Given the description of an element on the screen output the (x, y) to click on. 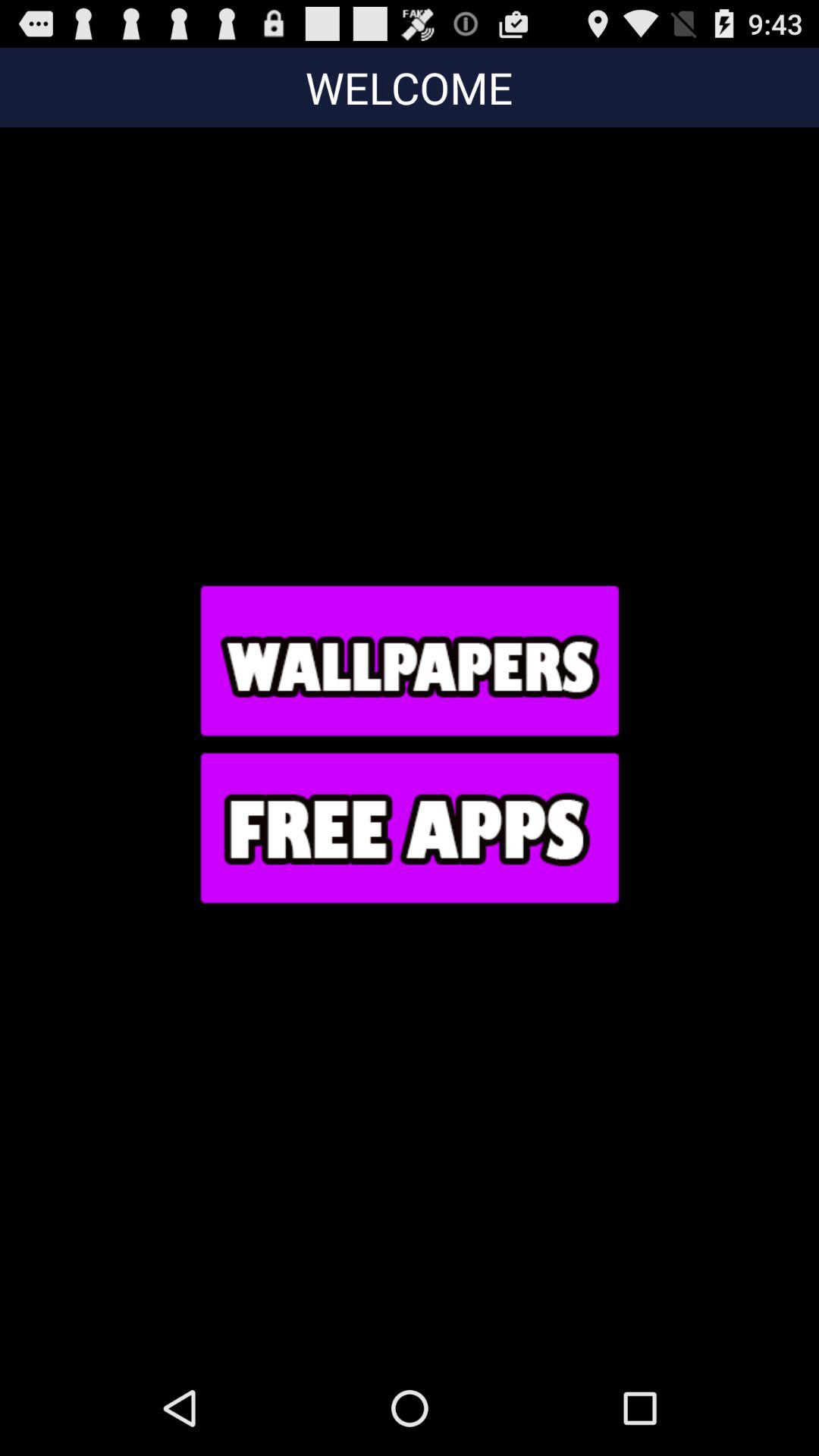
go up (408, 659)
